Given the description of an element on the screen output the (x, y) to click on. 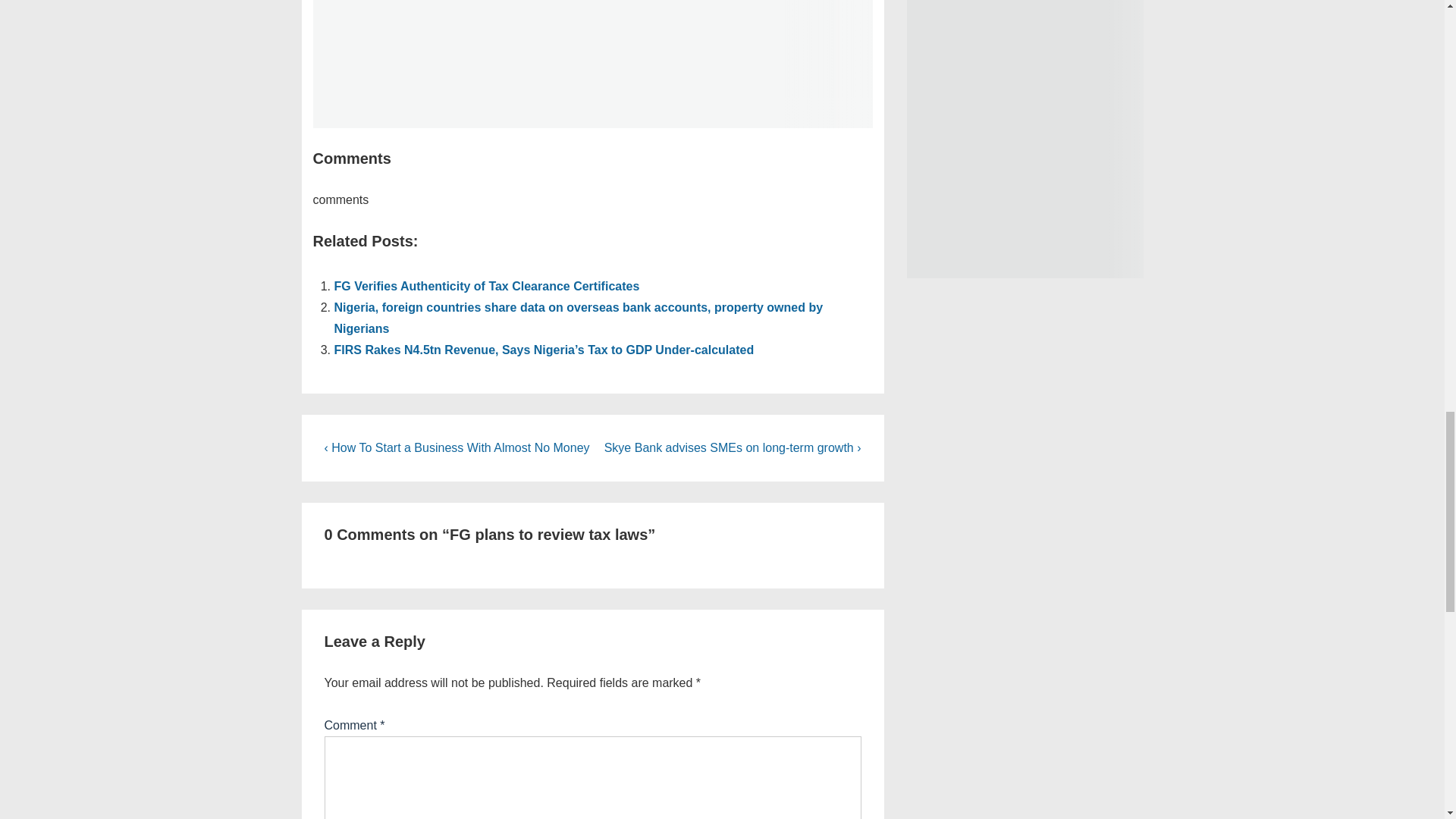
FG Verifies Authenticity of Tax Clearance Certificates (486, 286)
FG Verifies Authenticity of Tax Clearance Certificates (486, 286)
